Given the description of an element on the screen output the (x, y) to click on. 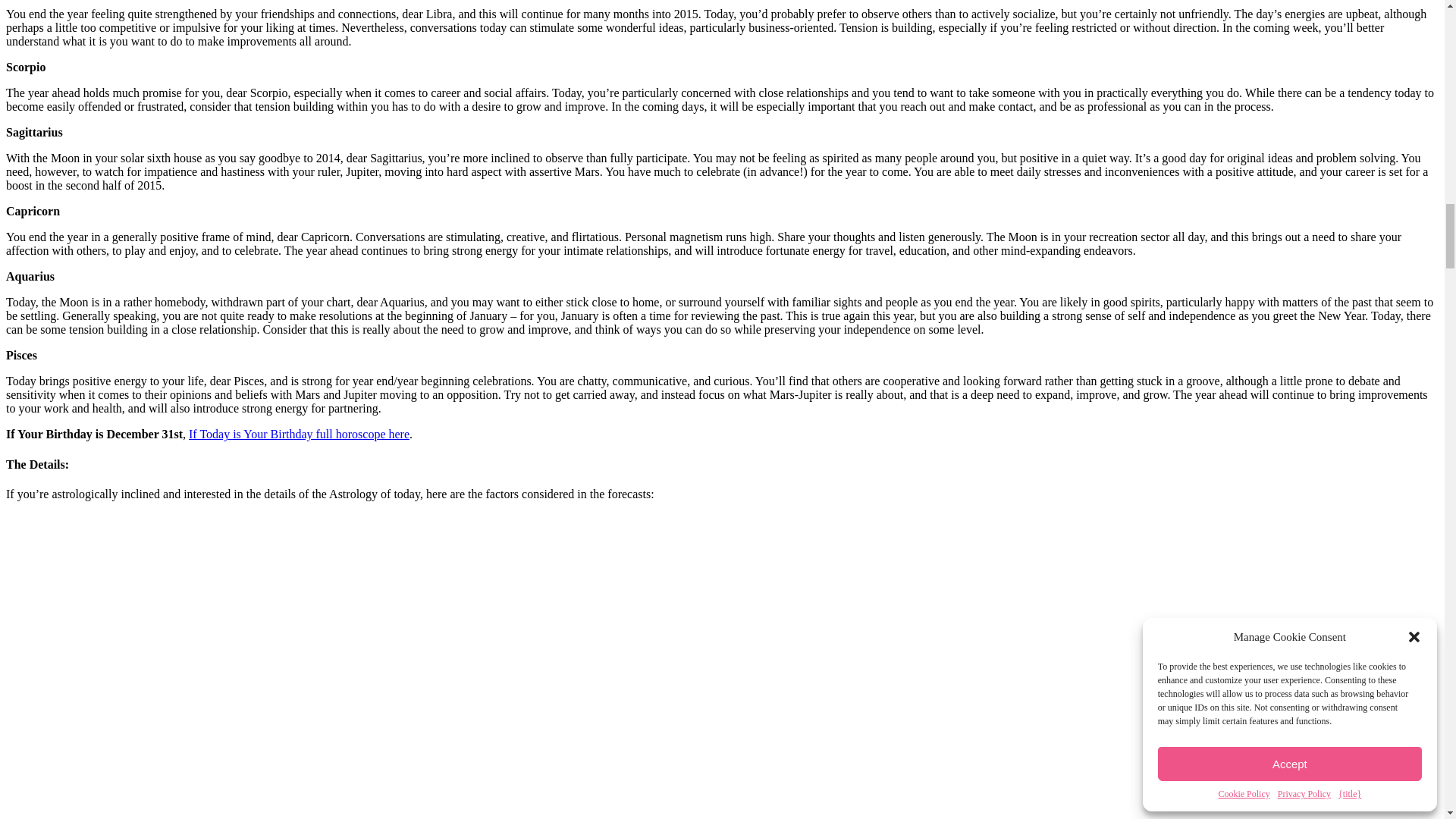
If Today is Your Birthday (299, 433)
If Today is Your Birthday full horoscope here (299, 433)
